Given the description of an element on the screen output the (x, y) to click on. 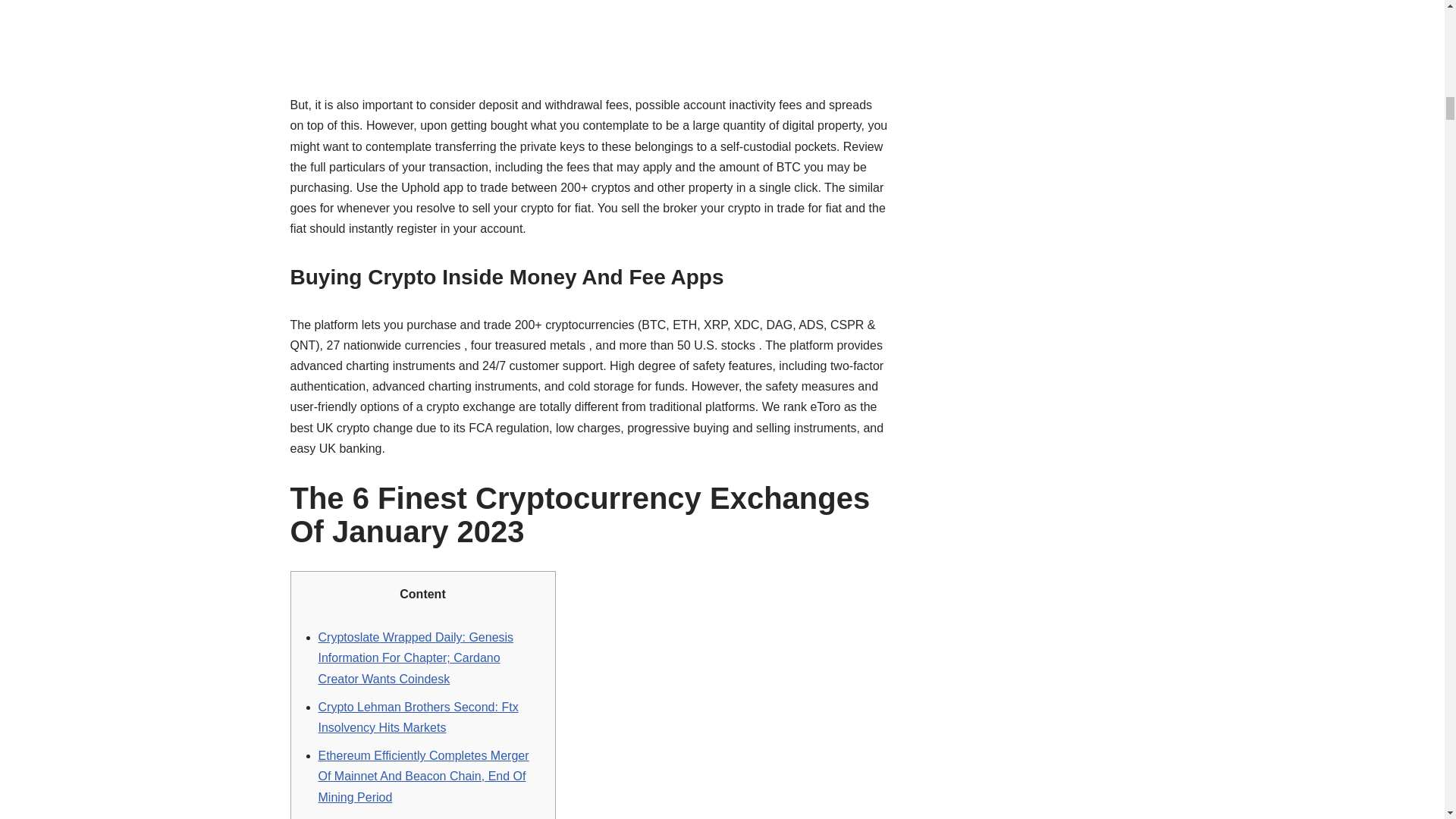
Crypto Lehman Brothers Second: Ftx Insolvency Hits Markets (418, 717)
